Given the description of an element on the screen output the (x, y) to click on. 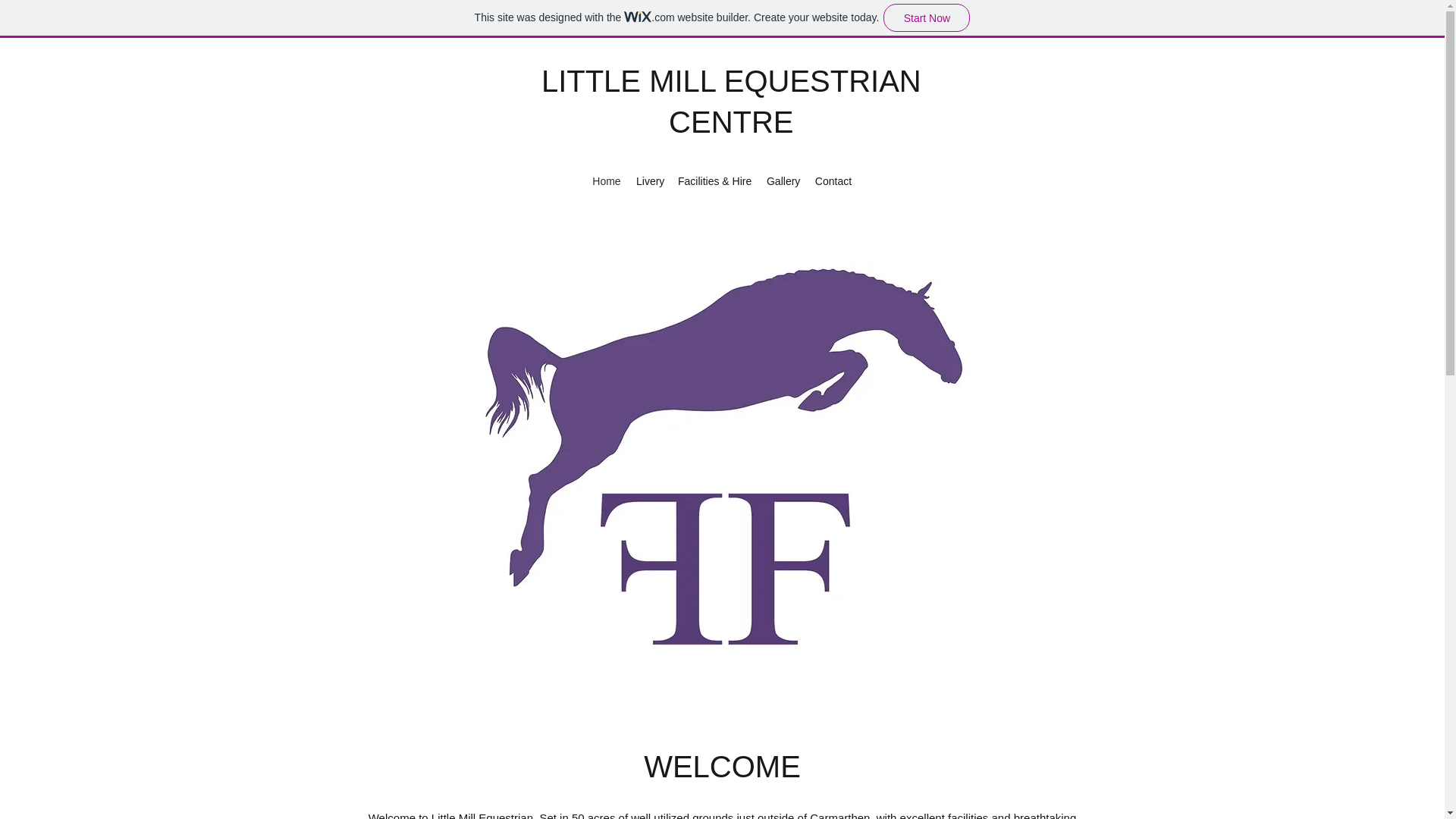
Gallery (782, 180)
Contact (833, 180)
LITTLE MILL EQUESTRIAN CENTRE (731, 101)
Livery (648, 180)
Home (606, 180)
